Given the description of an element on the screen output the (x, y) to click on. 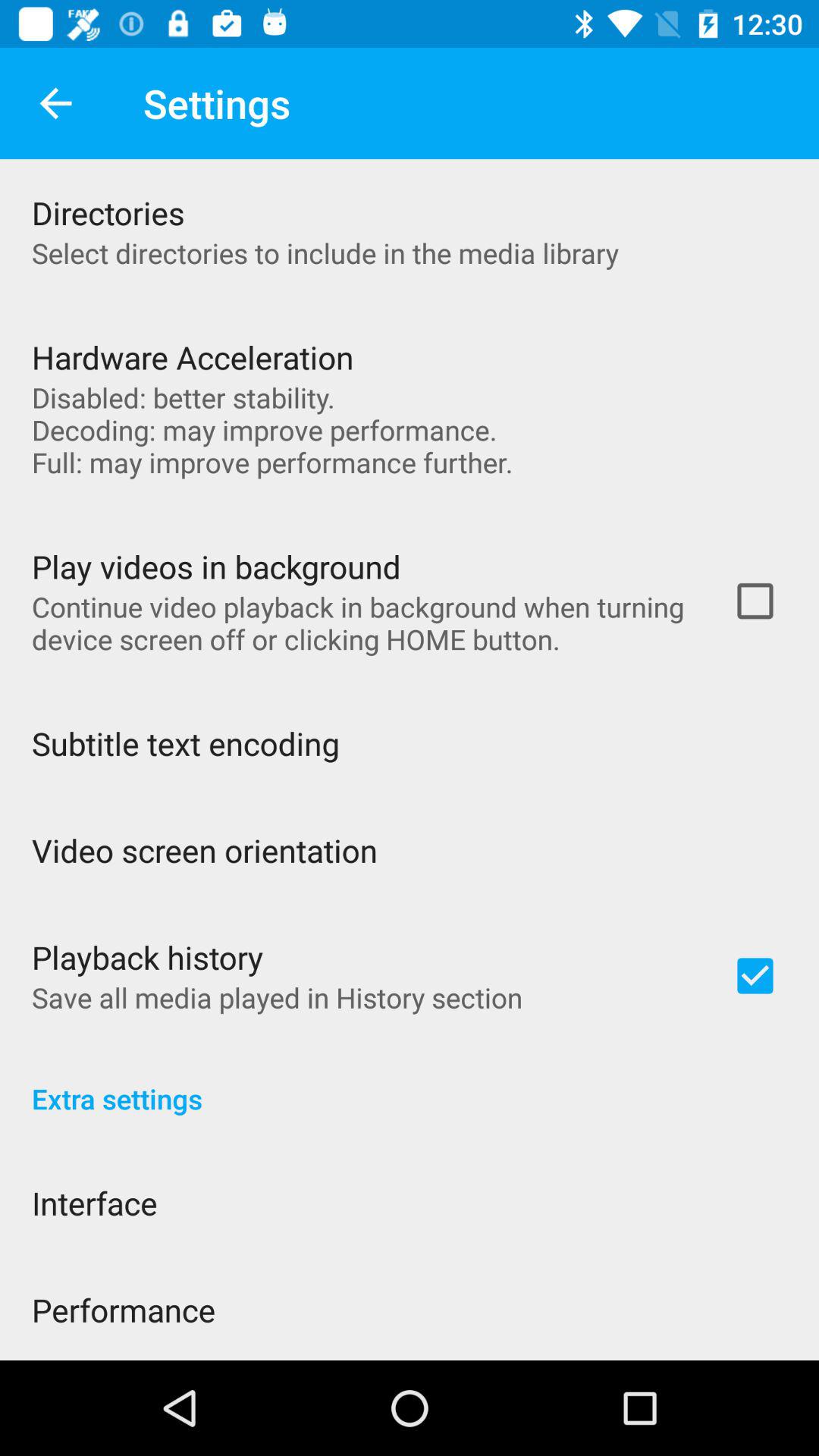
launch the item below the save all media item (409, 1082)
